Given the description of an element on the screen output the (x, y) to click on. 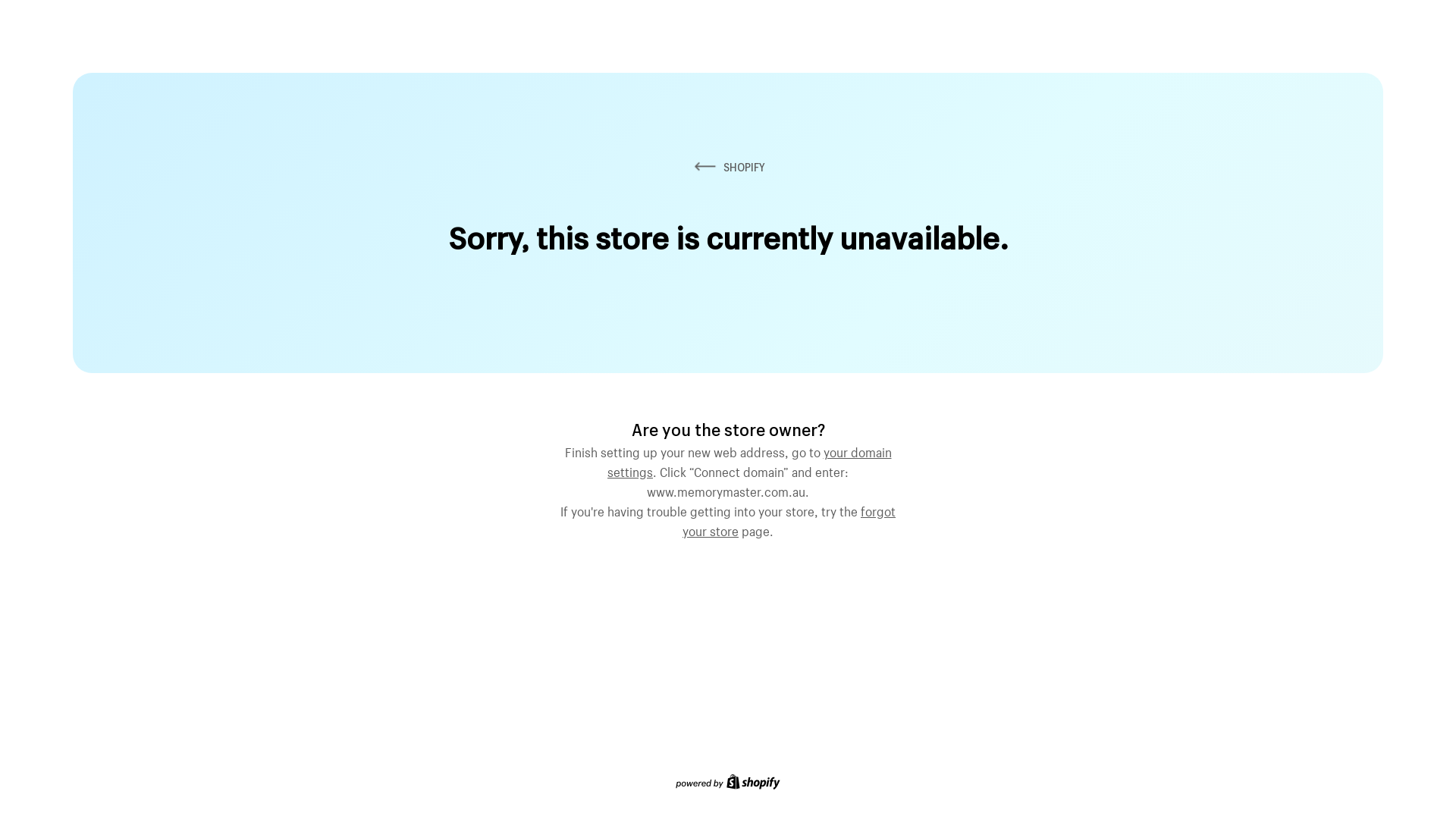
SHOPIFY Element type: text (727, 167)
forgot your store Element type: text (788, 519)
your domain settings Element type: text (749, 460)
